Given the description of an element on the screen output the (x, y) to click on. 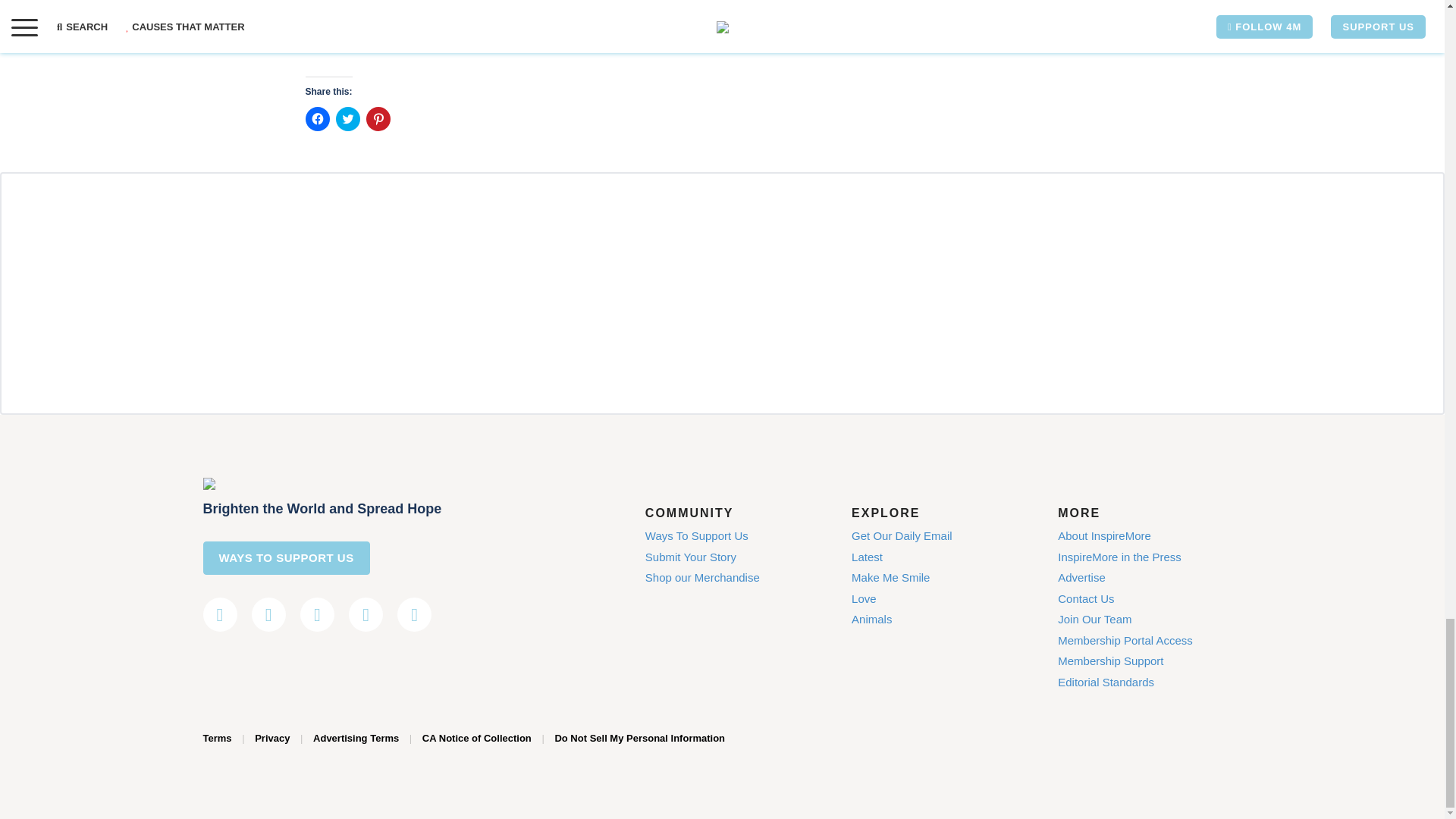
Click to share on Facebook (316, 119)
here (681, 33)
Click to share on Twitter (346, 119)
Click to share on Pinterest (377, 119)
